Given the description of an element on the screen output the (x, y) to click on. 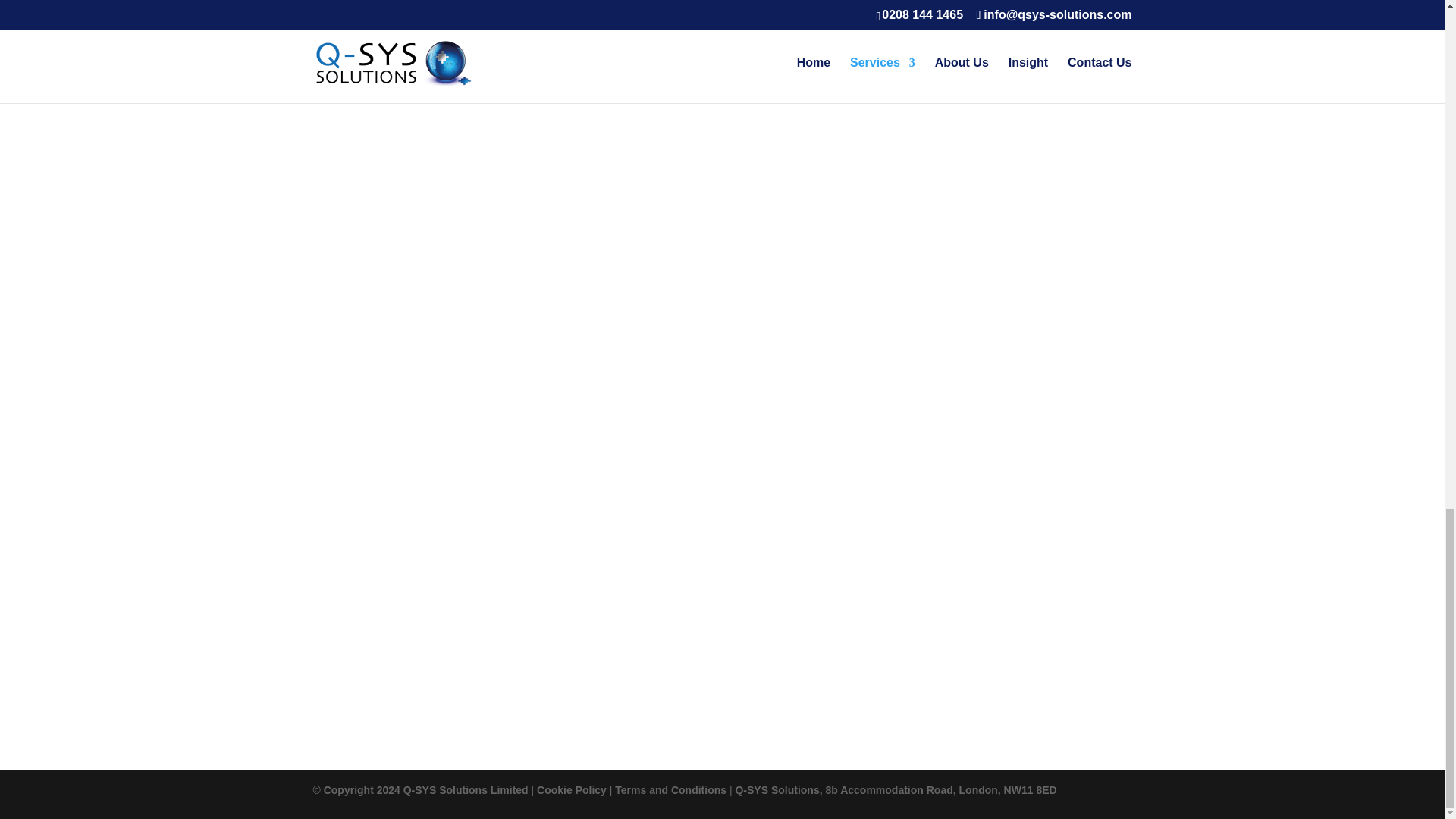
Cookie Policy (572, 789)
Q-SYS Solutions, 8b Accommodation Road, London, NW11 8ED (896, 789)
Terms and Conditions (670, 789)
